Given the description of an element on the screen output the (x, y) to click on. 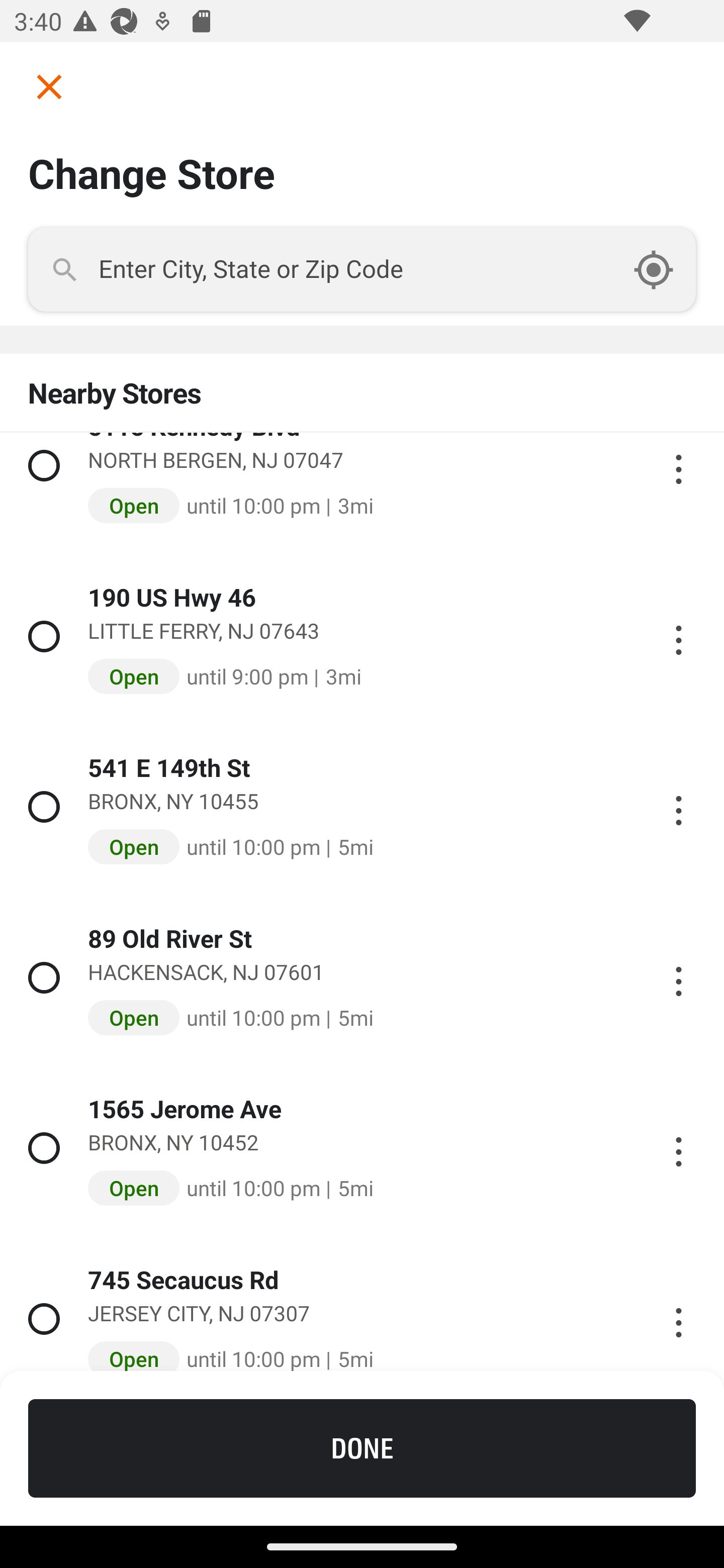
close-button  (42, 86)
Enter City, State or Zip Code search-bar-input (361, 269)
search-location-button  (663, 269)
more-actions-for-5115 Kennedy Blvd ︙ (678, 465)
more-actions-for-190 US Hwy 46 ︙ (678, 637)
more-actions-for-541 E 149th St ︙ (678, 806)
more-actions-for-89 Old River St ︙ (678, 977)
more-actions-for-1565 Jerome Ave ︙ (678, 1148)
more-actions-for-745 Secaucus Rd ︙ (678, 1316)
DONE (361, 1447)
